Given the description of an element on the screen output the (x, y) to click on. 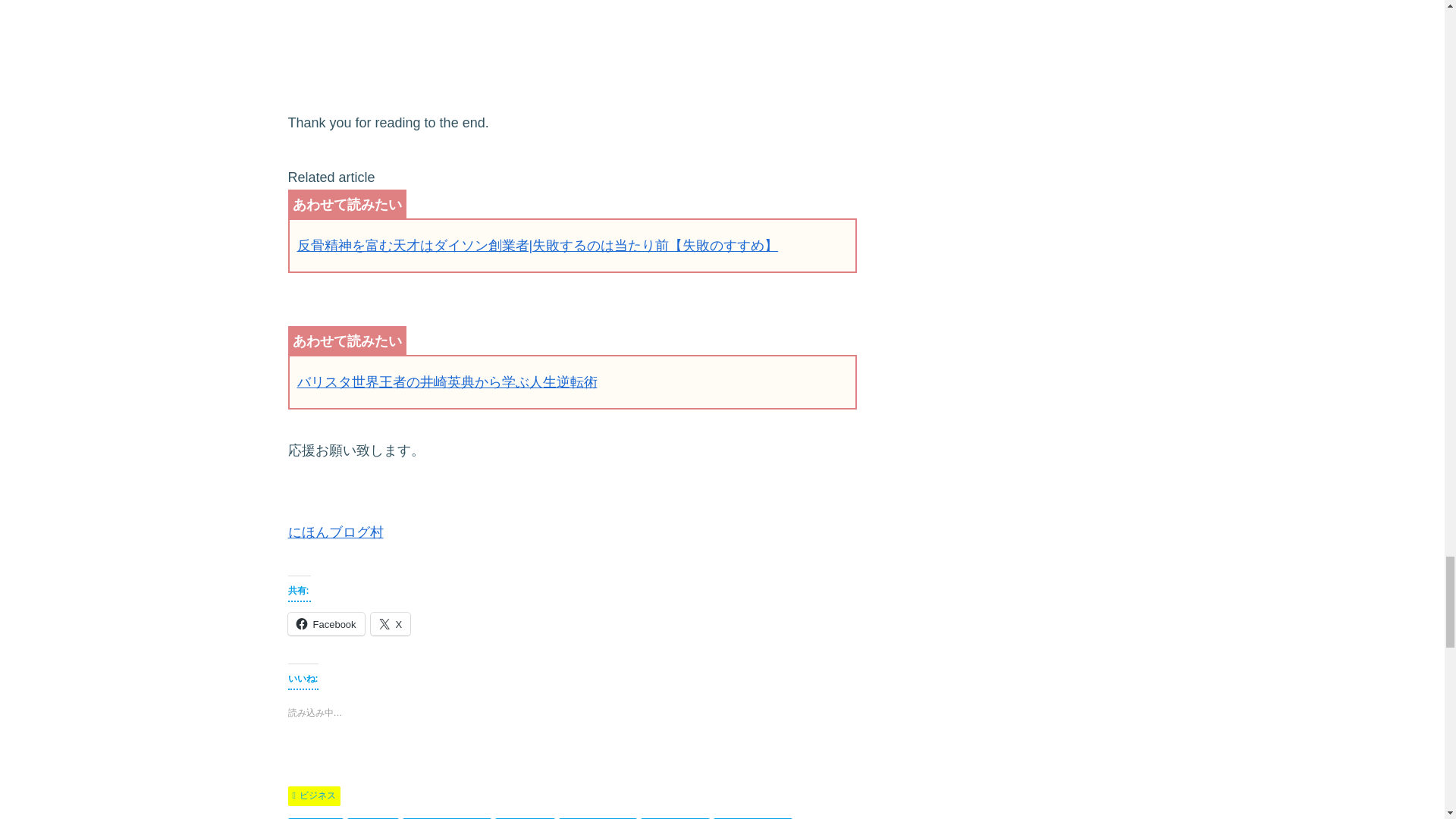
Facebook (326, 623)
X (390, 623)
McDonald (315, 818)
Ray Kroc (372, 818)
